Given the description of an element on the screen output the (x, y) to click on. 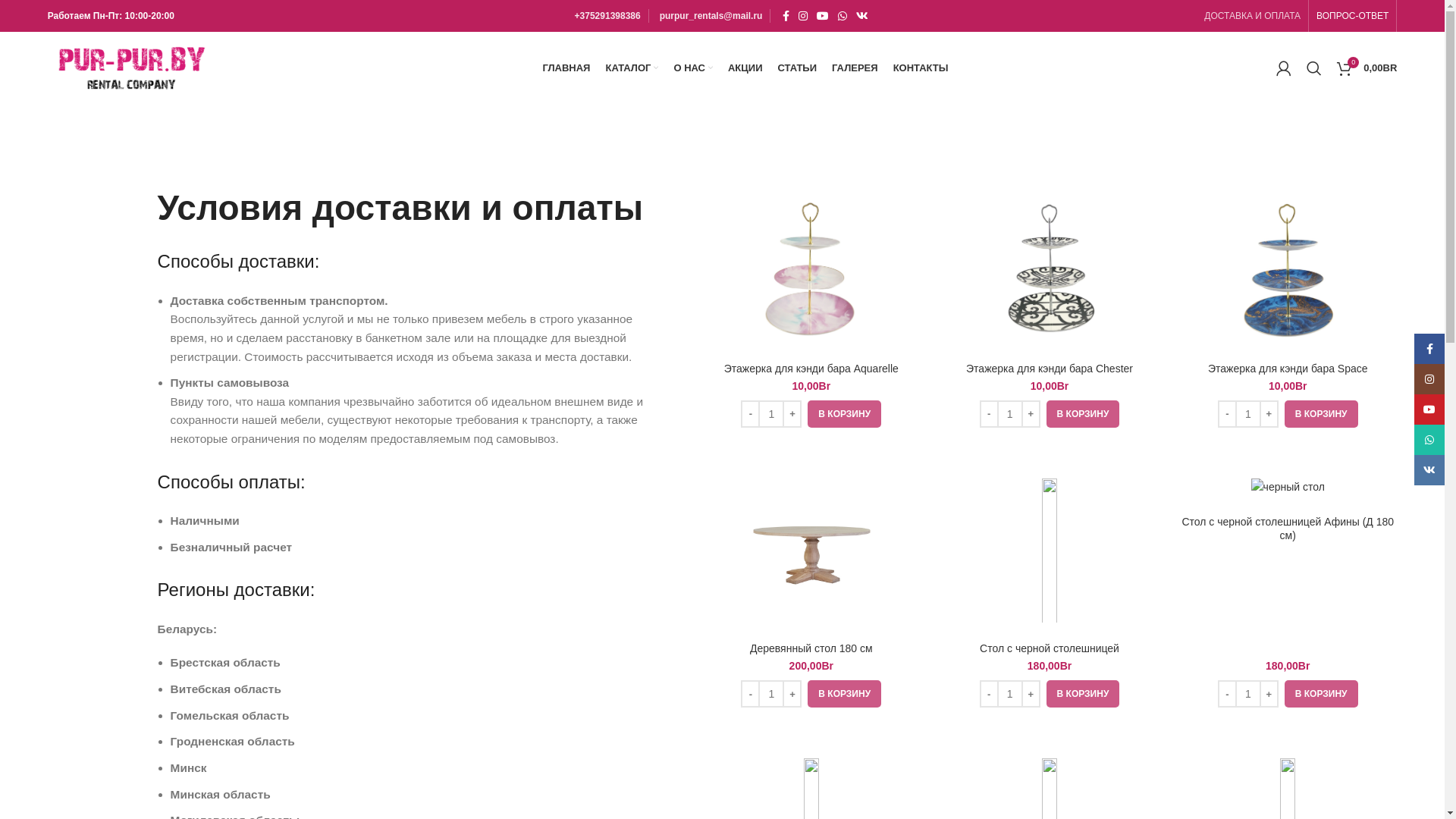
0
0,00BR Element type: text (1366, 68)
purpur_rentals@mail.ru Element type: text (710, 15)
+375291398386 Element type: text (607, 15)
